Given the description of an element on the screen output the (x, y) to click on. 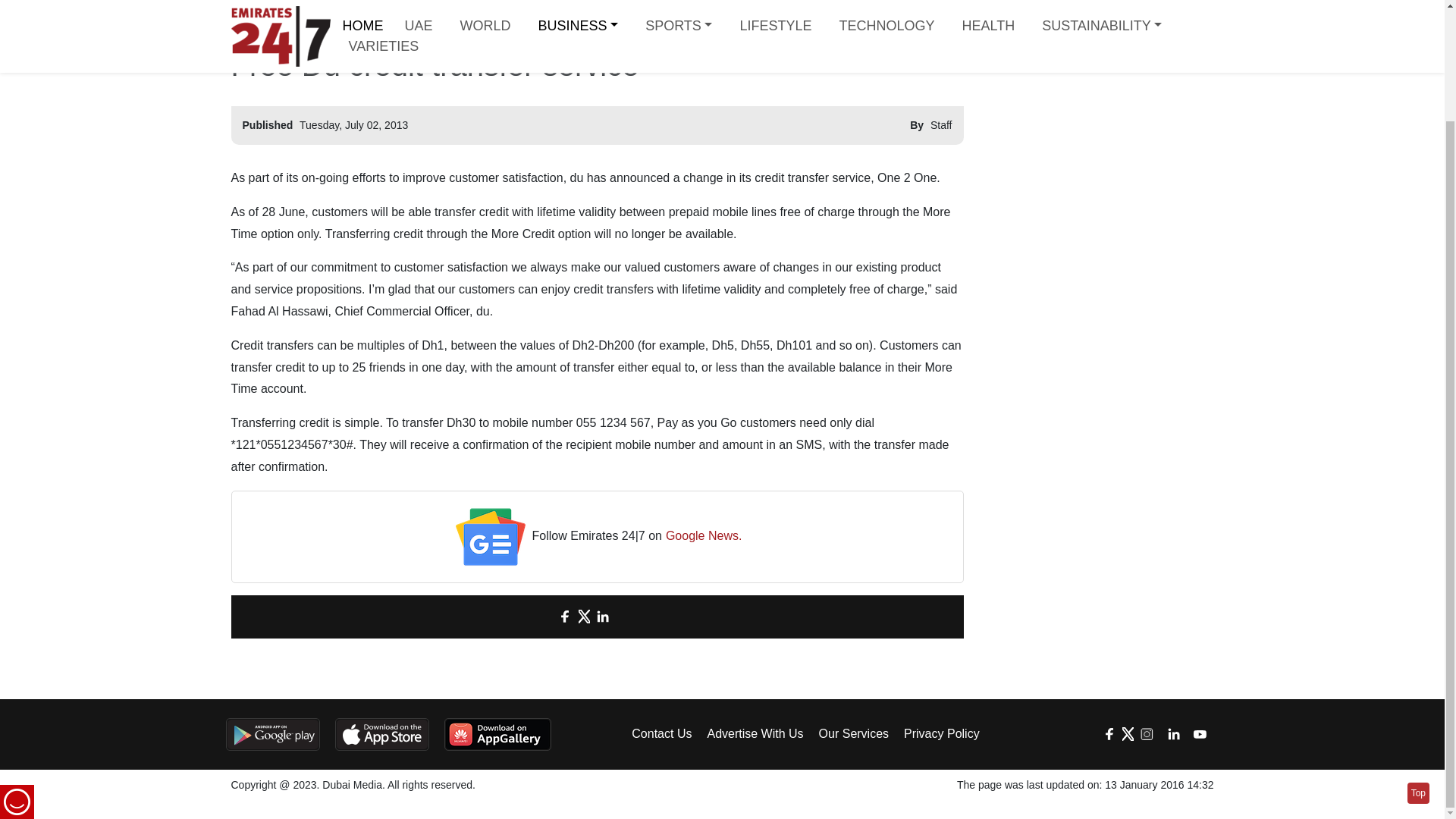
Go to top (1418, 661)
Google News. (703, 536)
